Given the description of an element on the screen output the (x, y) to click on. 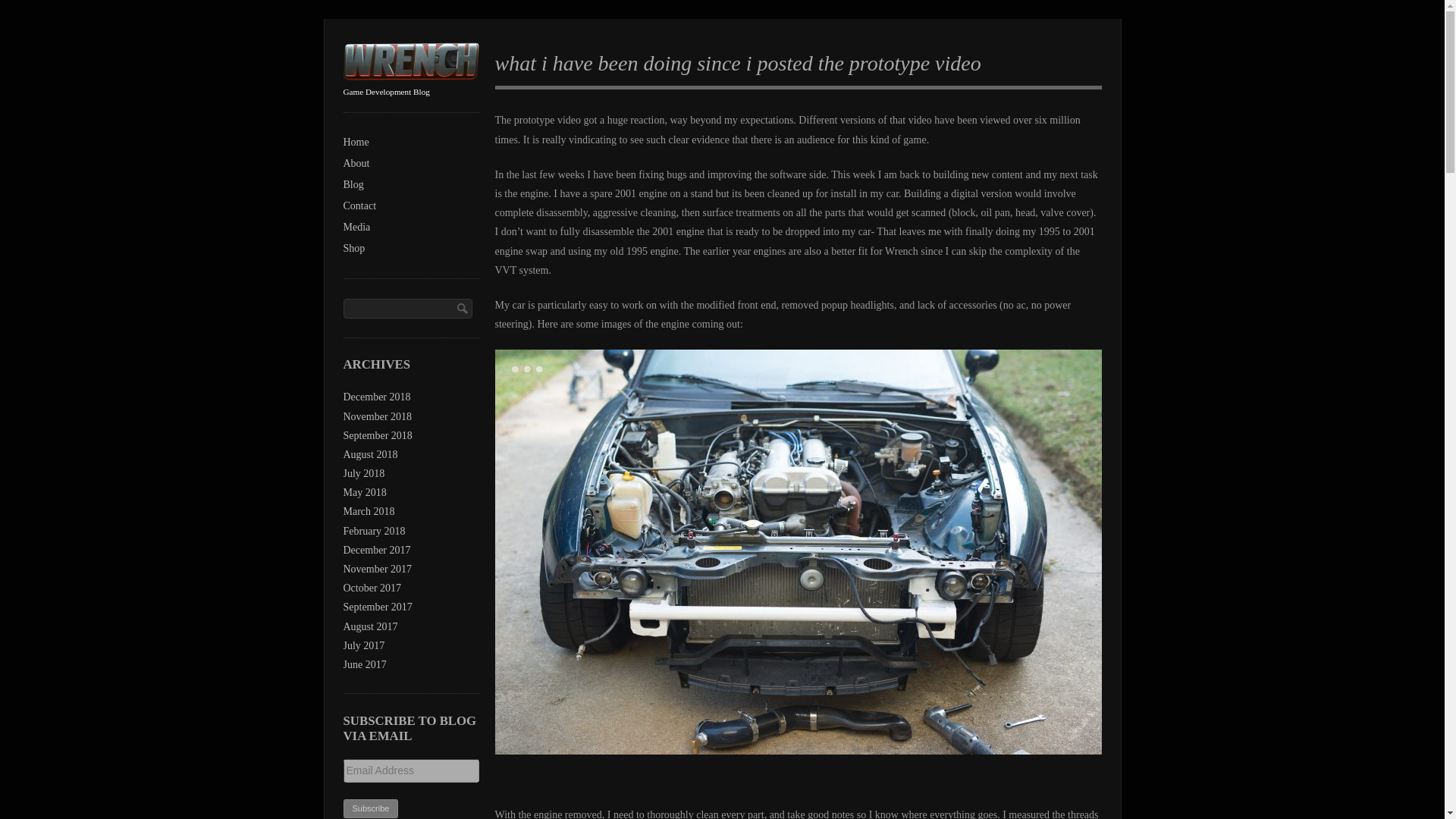
Contact (410, 206)
Wrench Game (410, 75)
1 (514, 369)
Blog (410, 184)
3 (538, 369)
Media (410, 227)
Home (410, 142)
About (410, 163)
2 (526, 369)
Previous (646, 551)
Subscribe (369, 808)
Shop (410, 248)
